Given the description of an element on the screen output the (x, y) to click on. 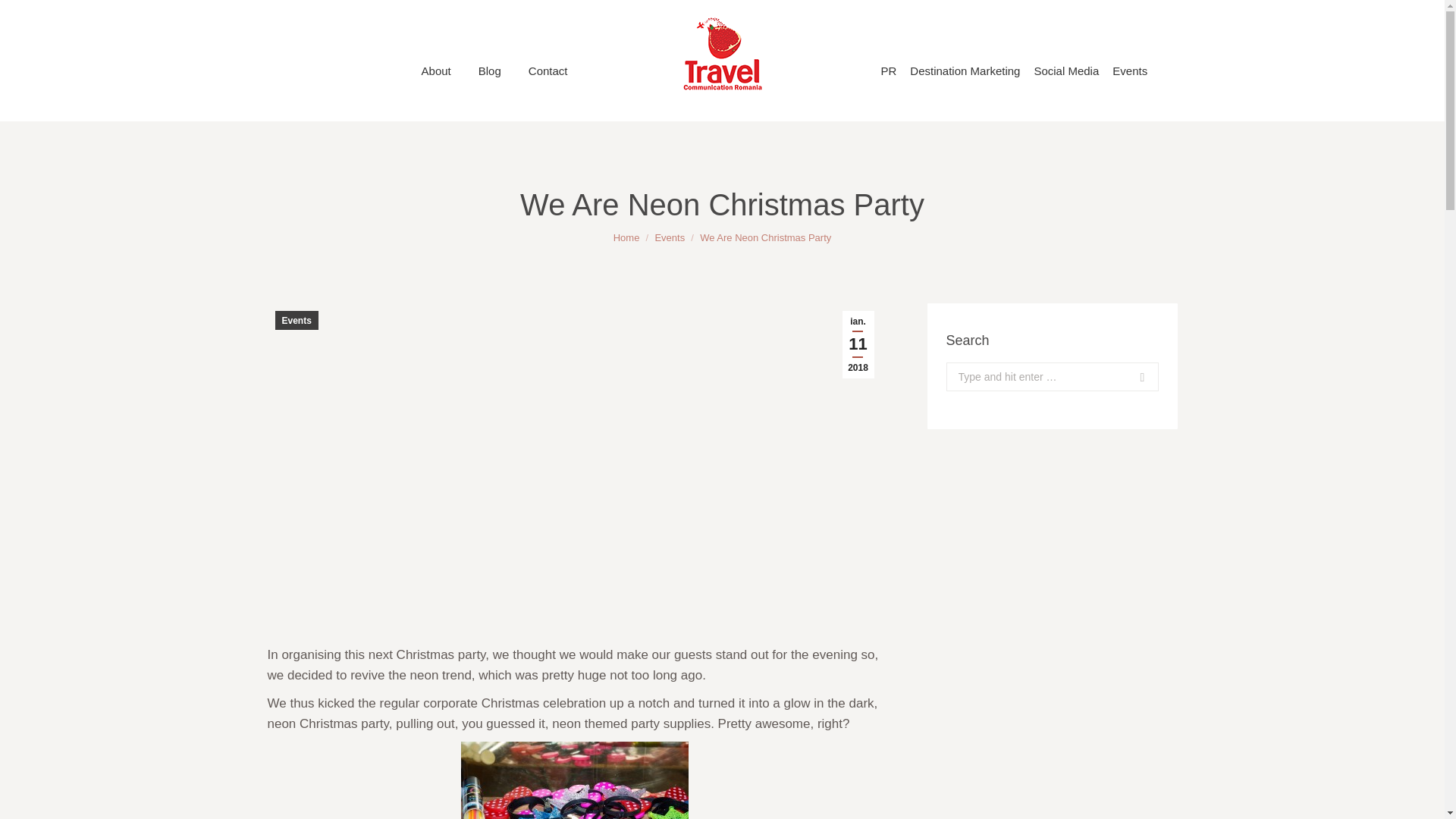
Events (668, 237)
Destination Marketing (965, 70)
Home (626, 237)
Social Media (1066, 70)
Go! (1126, 376)
Go! (1126, 376)
Events (296, 320)
